Given the description of an element on the screen output the (x, y) to click on. 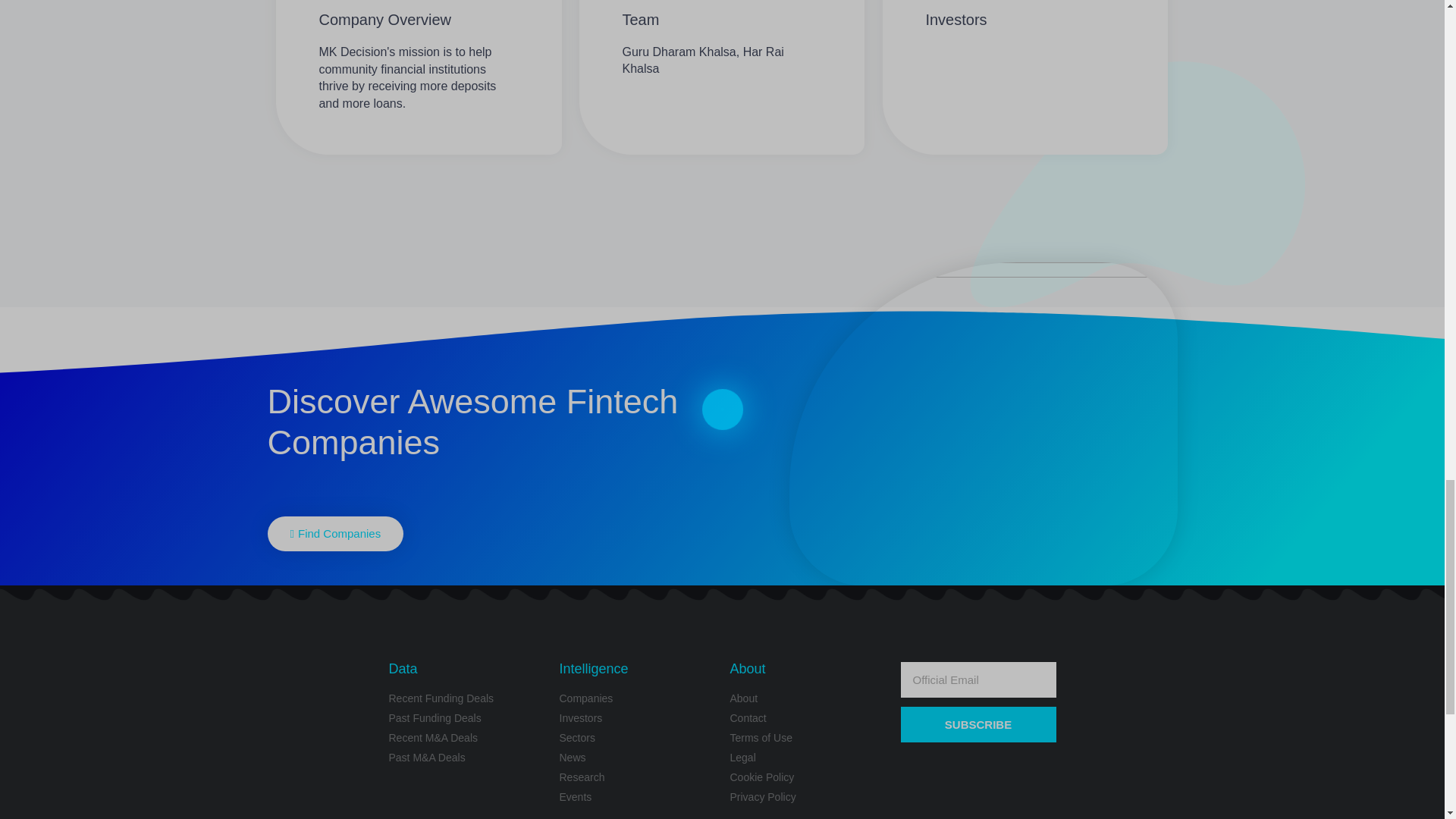
Companies (636, 698)
About (807, 698)
News (636, 757)
Recent Funding Deals (465, 698)
Past Funding Deals (465, 718)
Sectors (636, 738)
Find Companies (334, 533)
Contact (807, 718)
Investors (636, 718)
Events (636, 797)
